Given the description of an element on the screen output the (x, y) to click on. 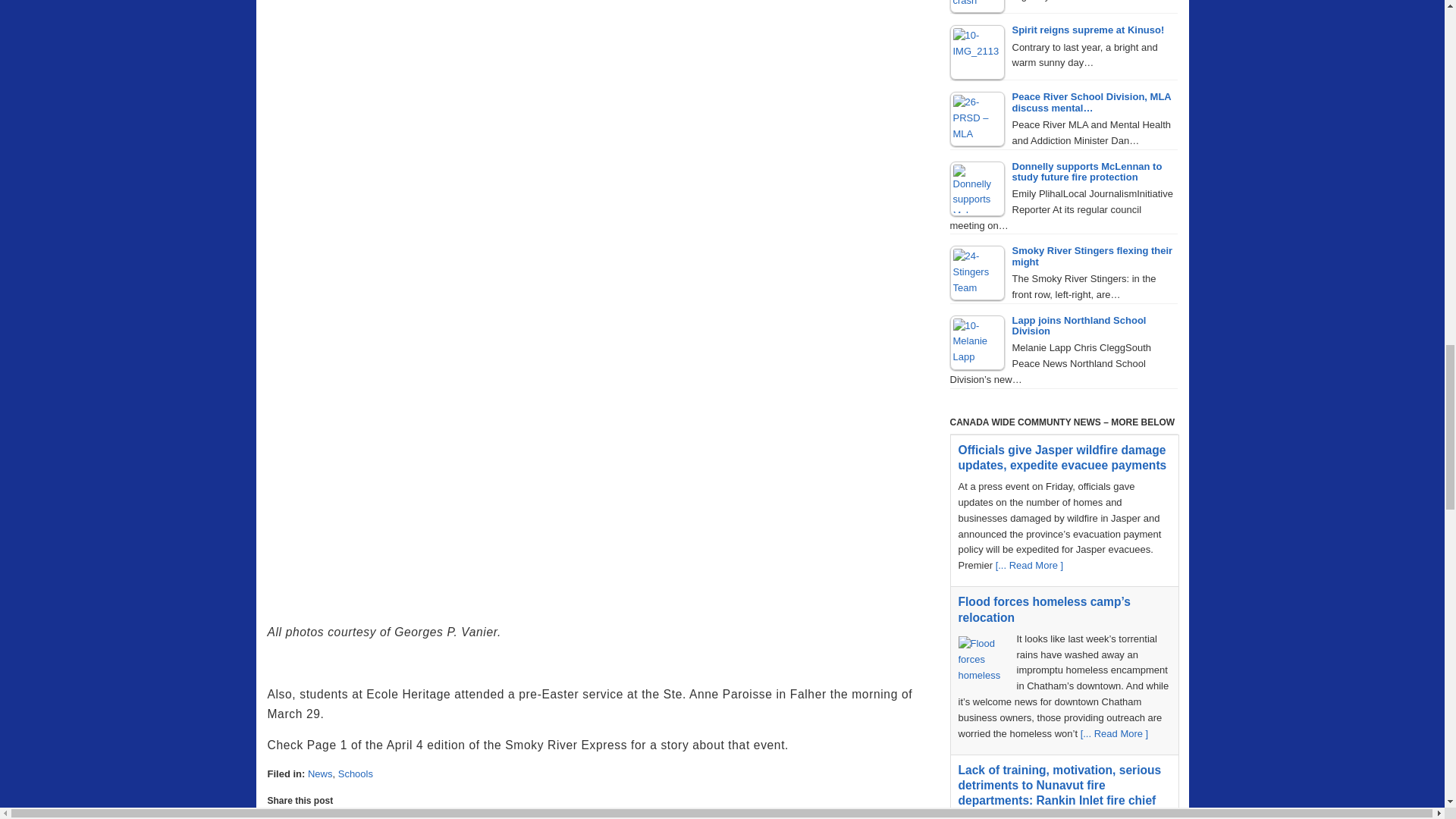
Spirit reigns supreme at Kinuso! (976, 52)
Lapp joins Northland School Division (976, 342)
Smoky River Stingers flexing their might (976, 272)
News (320, 773)
Traffic-stopper! (976, 6)
Schools (354, 773)
Donnelly supports McLennan to study future fire protection (976, 187)
